Given the description of an element on the screen output the (x, y) to click on. 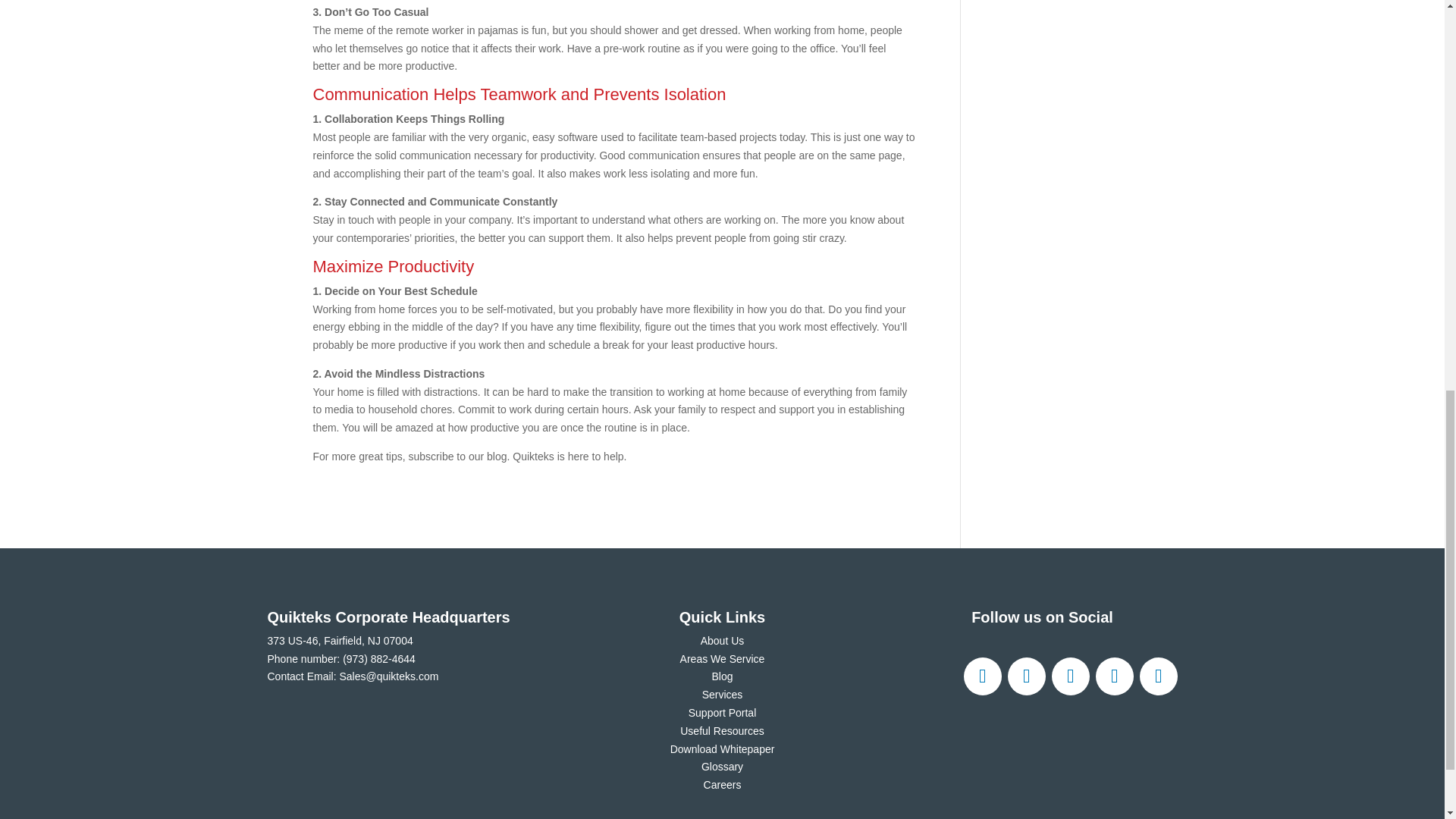
Follow on X (1026, 676)
Follow on Facebook (981, 676)
Follow on Instagram (1070, 676)
Follow on Youtube (1157, 676)
Follow on LinkedIn (1113, 676)
